Given the description of an element on the screen output the (x, y) to click on. 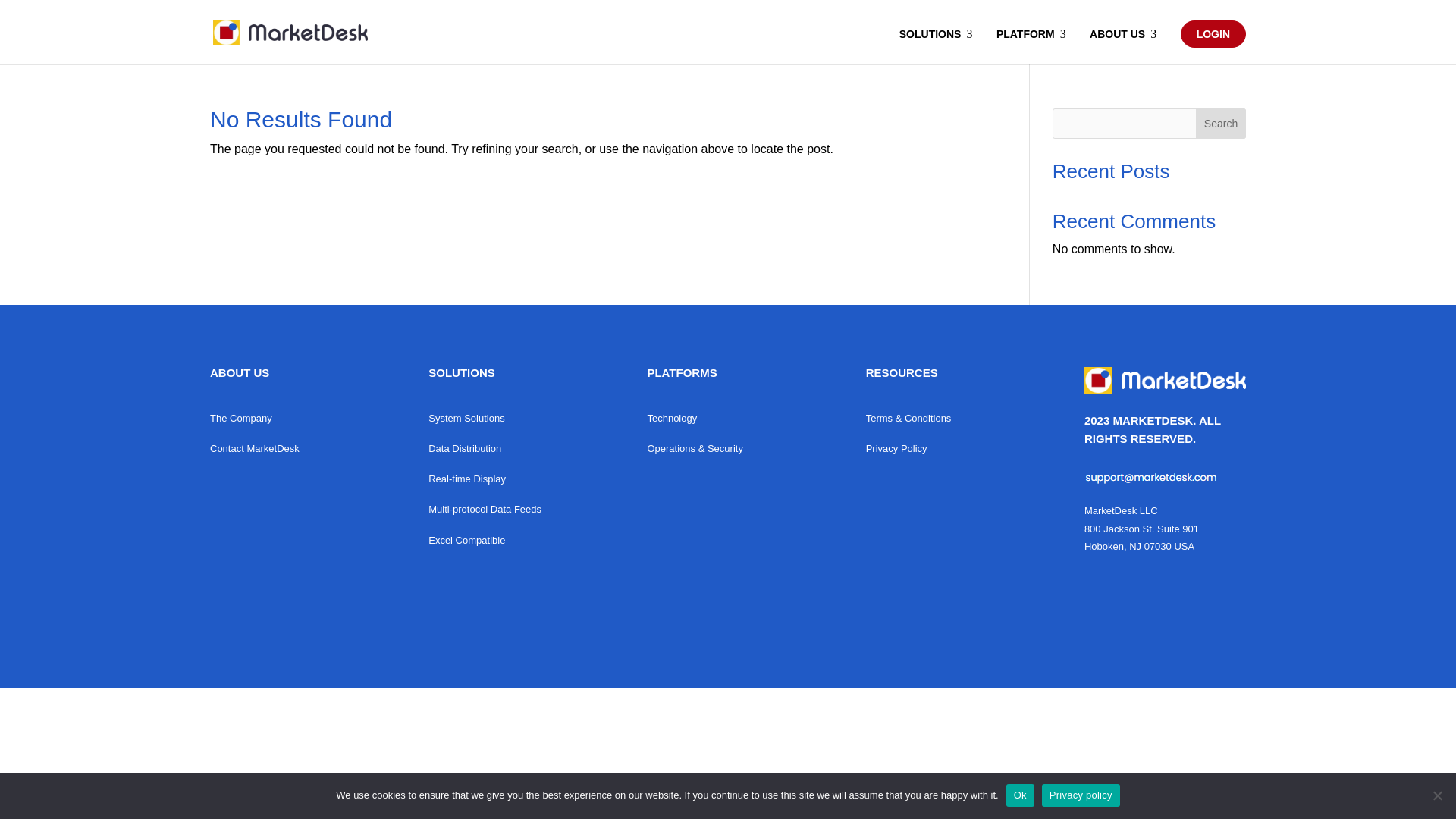
Contact MarketDesk (254, 447)
Multi-protocol Data Feeds (484, 508)
LOGIN (1213, 33)
The Company (254, 417)
ABOUT US (1124, 46)
System Solutions (484, 417)
Search (1220, 123)
Excel Compatible (484, 539)
Privacy Policy (909, 447)
PLATFORM (1032, 46)
Technology (694, 417)
Data Distribution (484, 447)
Real-time Display (484, 478)
SOLUTIONS (937, 46)
